Given the description of an element on the screen output the (x, y) to click on. 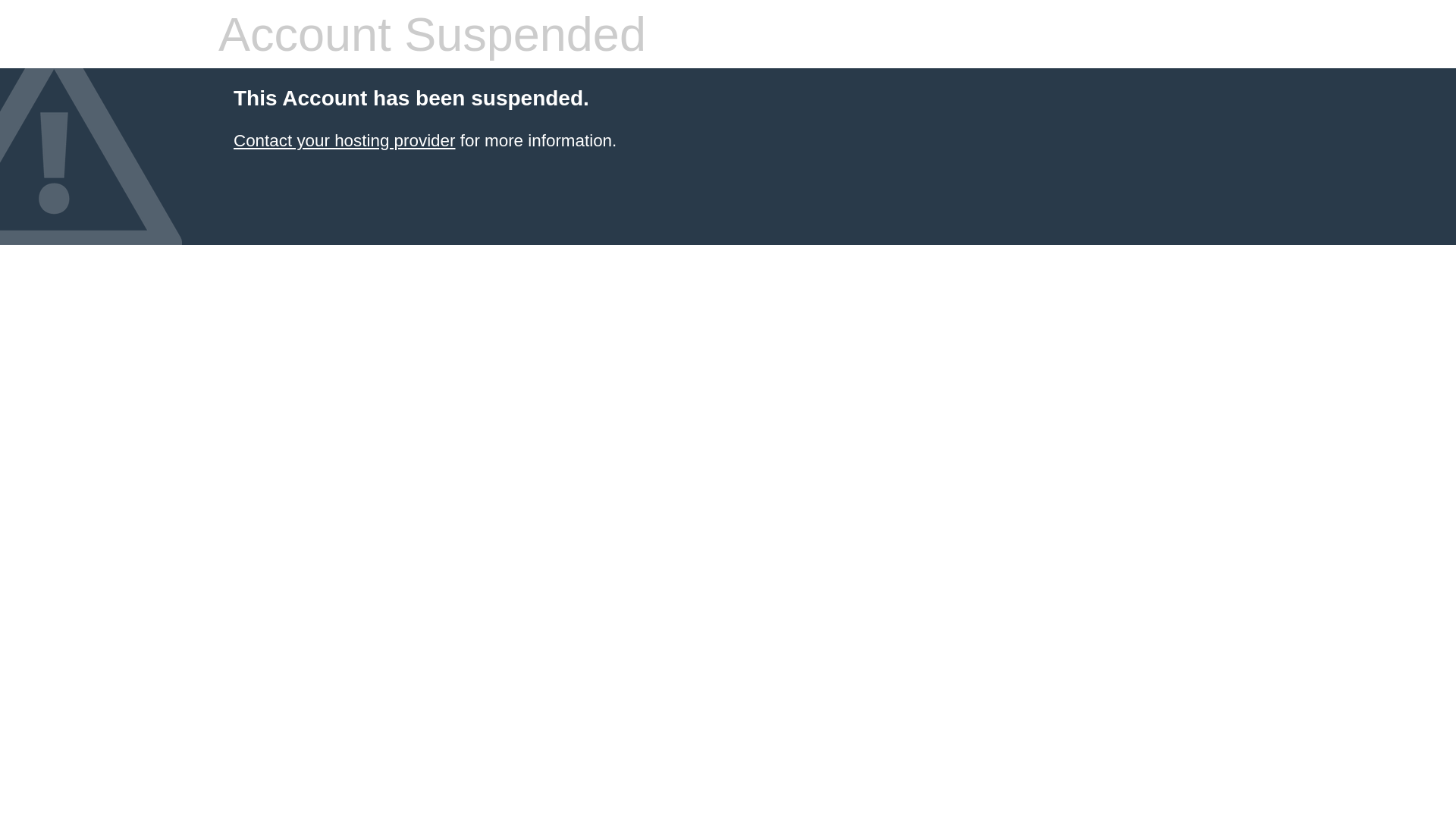
Contact your hosting provider Element type: text (344, 140)
